Given the description of an element on the screen output the (x, y) to click on. 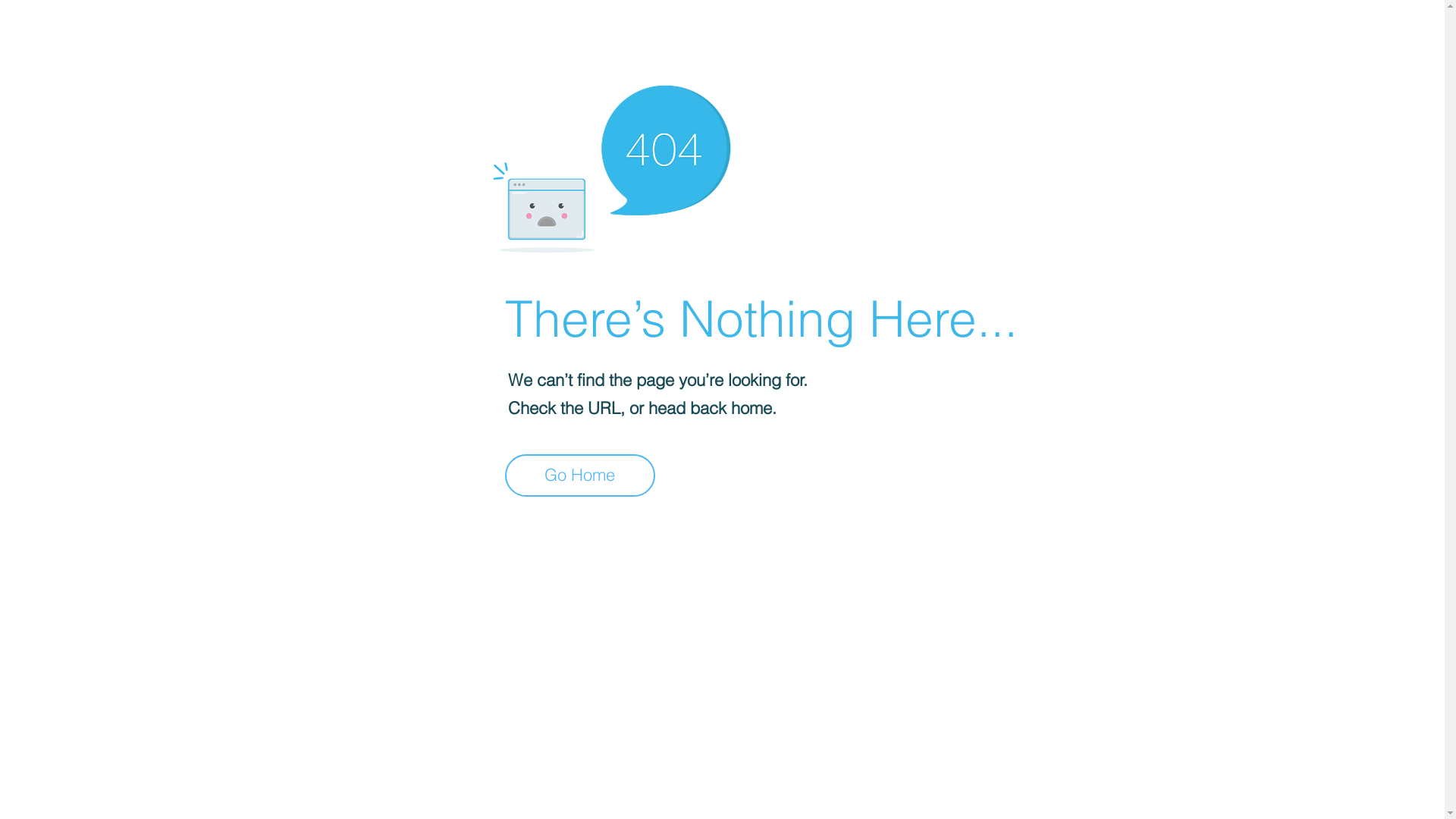
404-icon_2.png Element type: hover (610, 164)
Go Home Element type: text (580, 475)
